Given the description of an element on the screen output the (x, y) to click on. 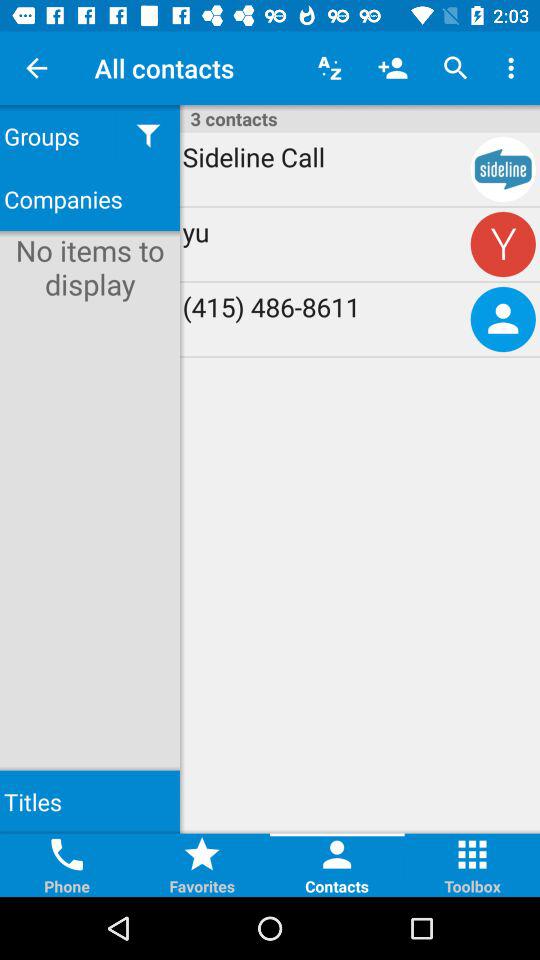
tap the icon to the right of all contacts (329, 67)
